Given the description of an element on the screen output the (x, y) to click on. 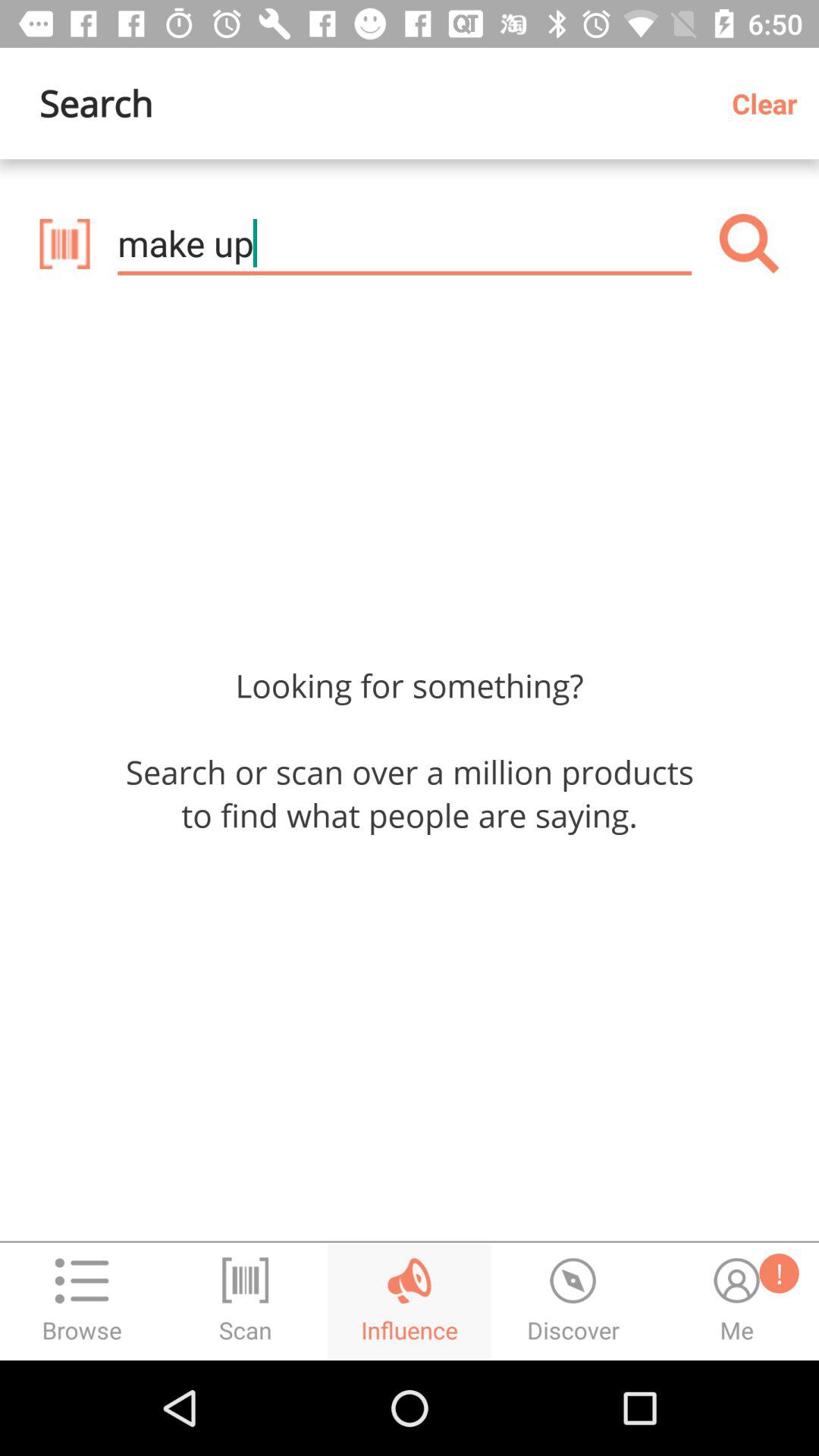
launch the item next to search (769, 103)
